Given the description of an element on the screen output the (x, y) to click on. 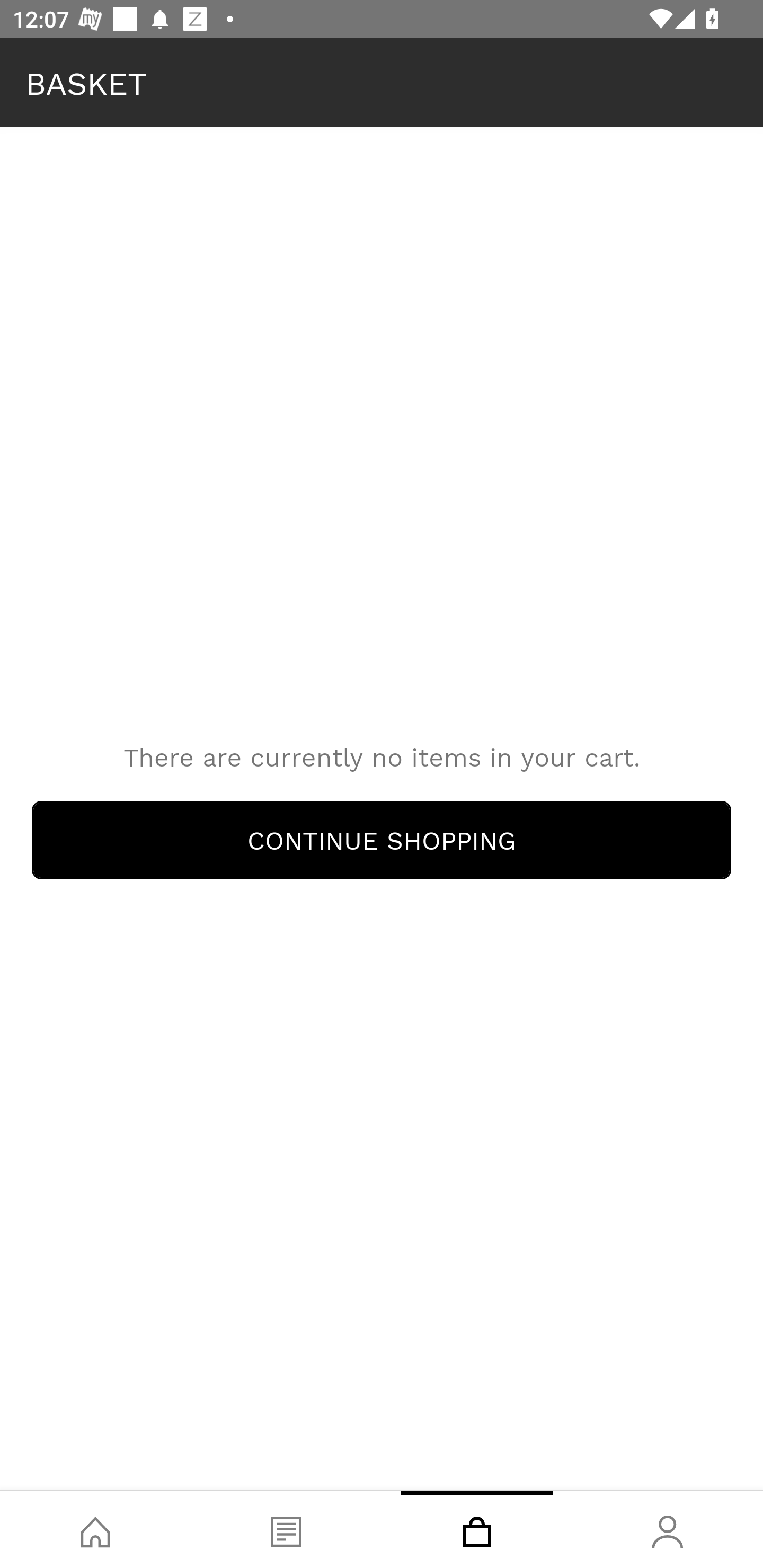
Continue Shopping CONTINUE SHOPPING (381, 840)
Shop, tab, 1 of 4 (95, 1529)
Blog, tab, 2 of 4 (285, 1529)
Basket, tab, 3 of 4 (476, 1529)
Account, tab, 4 of 4 (667, 1529)
